Given the description of an element on the screen output the (x, y) to click on. 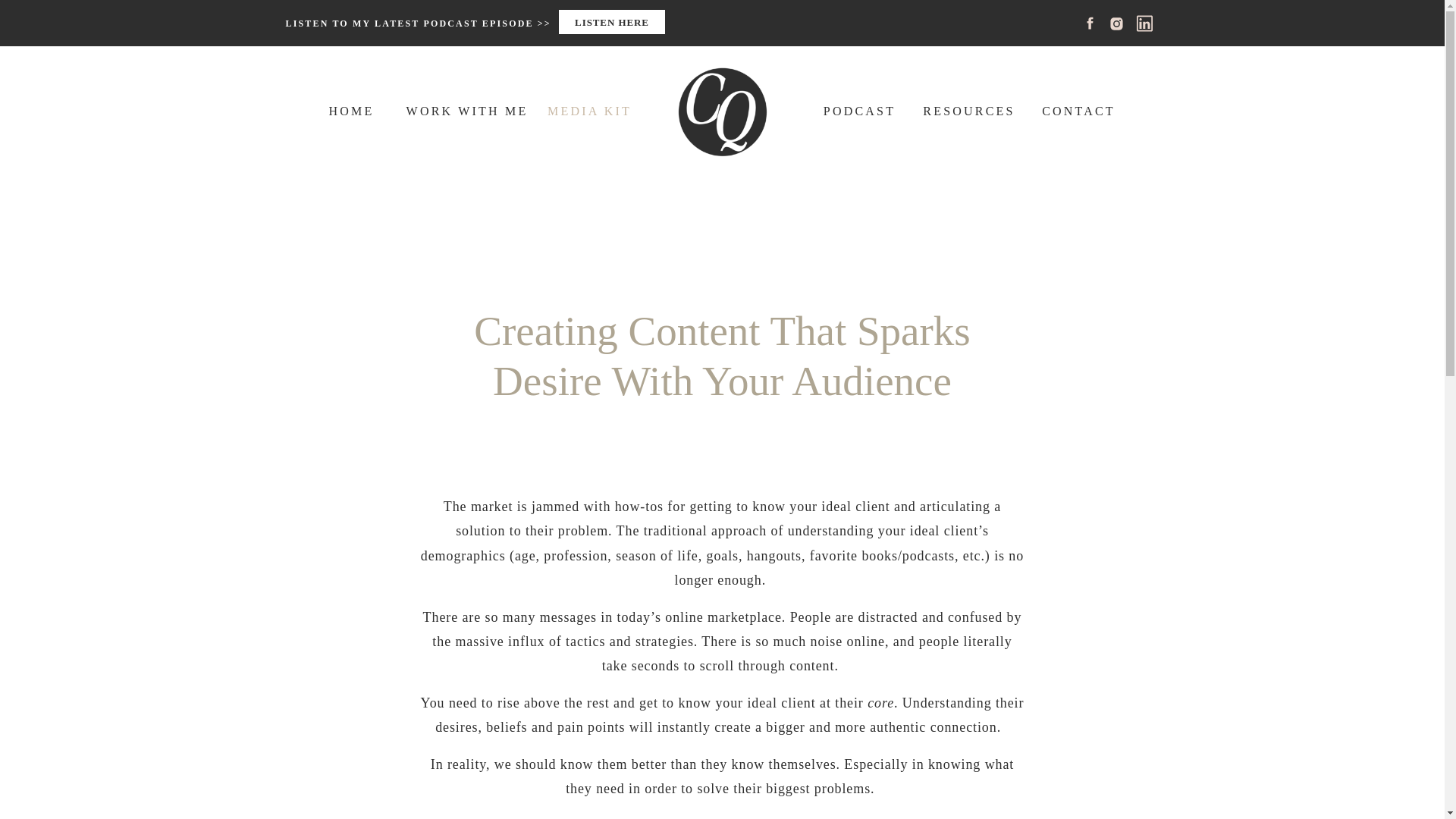
MEDIA KIT (589, 109)
PODCAST (858, 109)
CONTACT (1079, 109)
HOME (351, 109)
WORK WITH ME (467, 109)
LISTEN HERE (611, 24)
RESOURCES (968, 109)
